Given the description of an element on the screen output the (x, y) to click on. 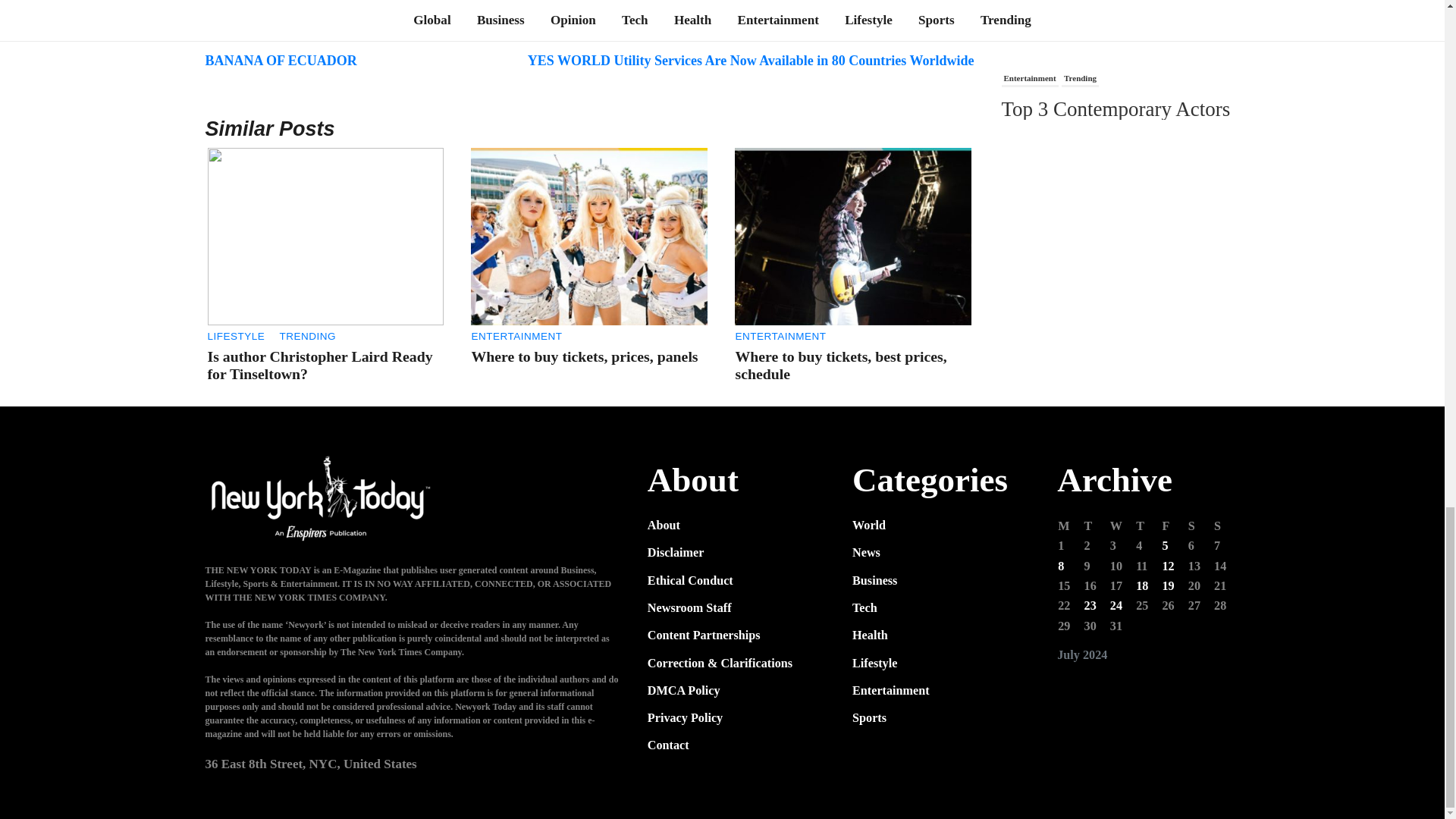
Saturday (1200, 526)
Friday (1173, 526)
Tuesday (1096, 526)
Sunday (1225, 526)
LIFESTYLE (236, 336)
Monday (1070, 526)
Thursday (1147, 526)
ENTERTAINMENT (516, 336)
Where to buy tickets, best prices, schedule (840, 365)
Wednesday (1122, 526)
BANANA OF ECUADOR (280, 60)
